Given the description of an element on the screen output the (x, y) to click on. 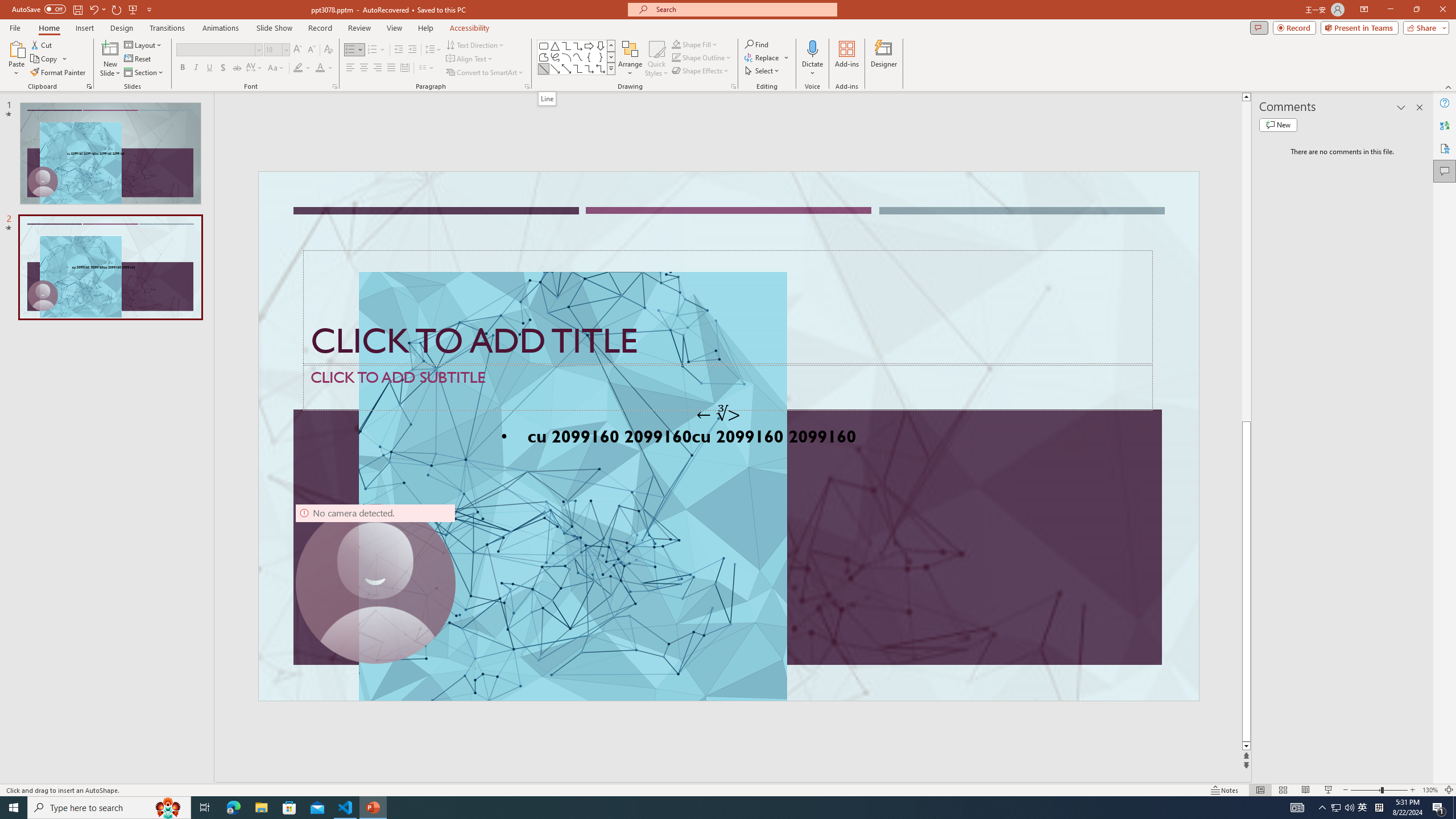
Outline Section (188, 615)
